Given the description of an element on the screen output the (x, y) to click on. 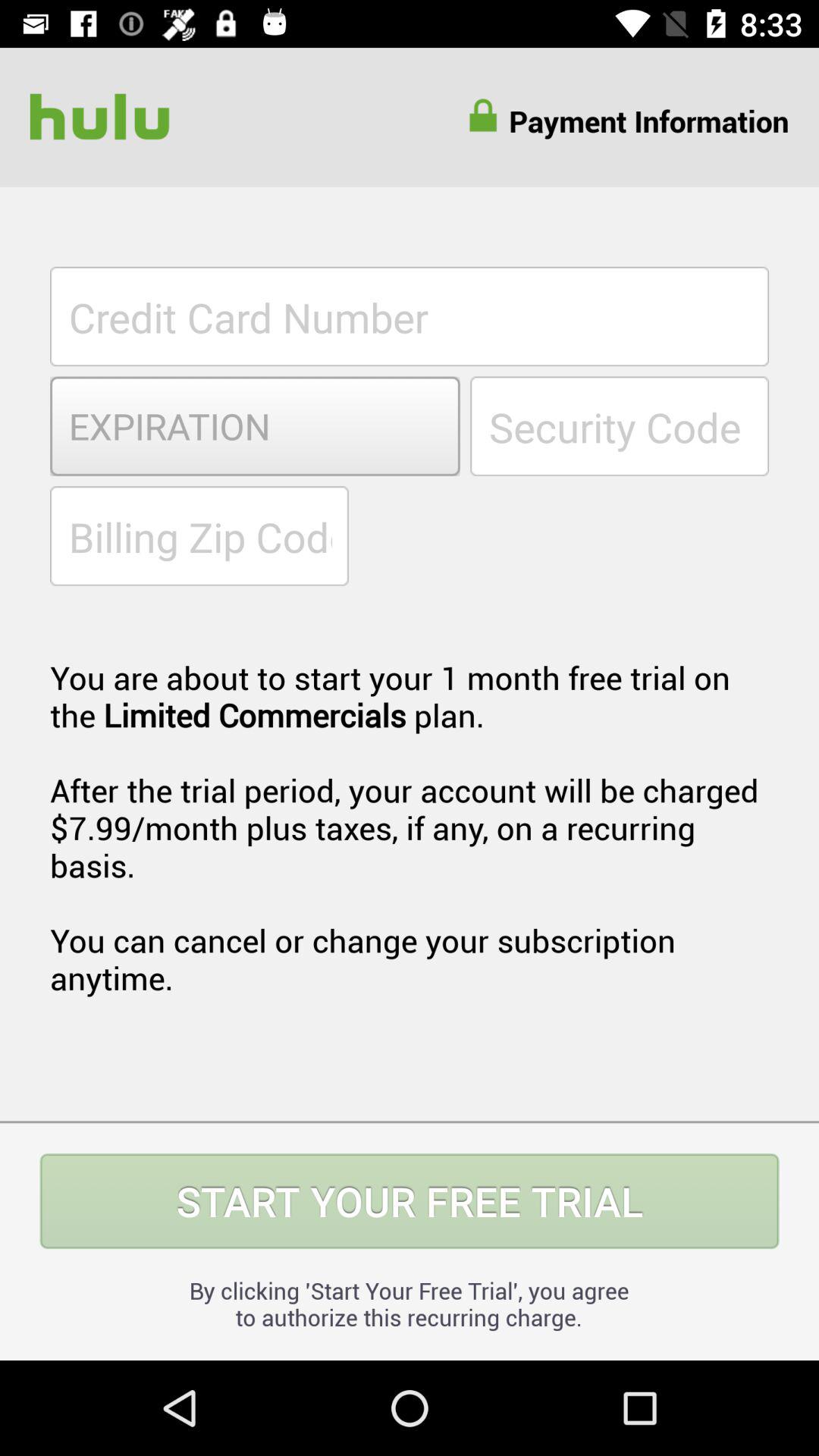
enter card number (409, 316)
